Given the description of an element on the screen output the (x, y) to click on. 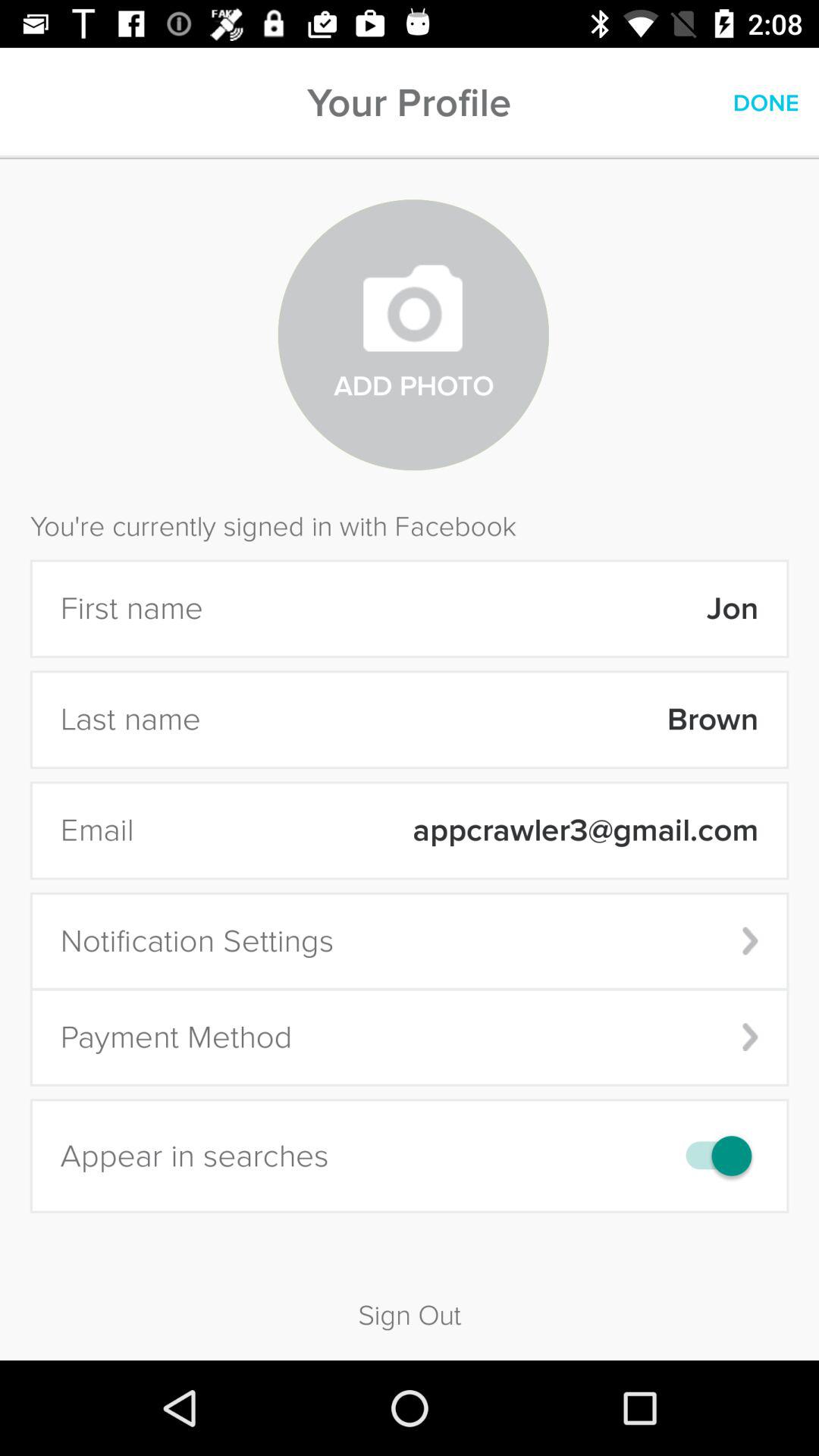
press icon to the right of last name item (489, 719)
